Given the description of an element on the screen output the (x, y) to click on. 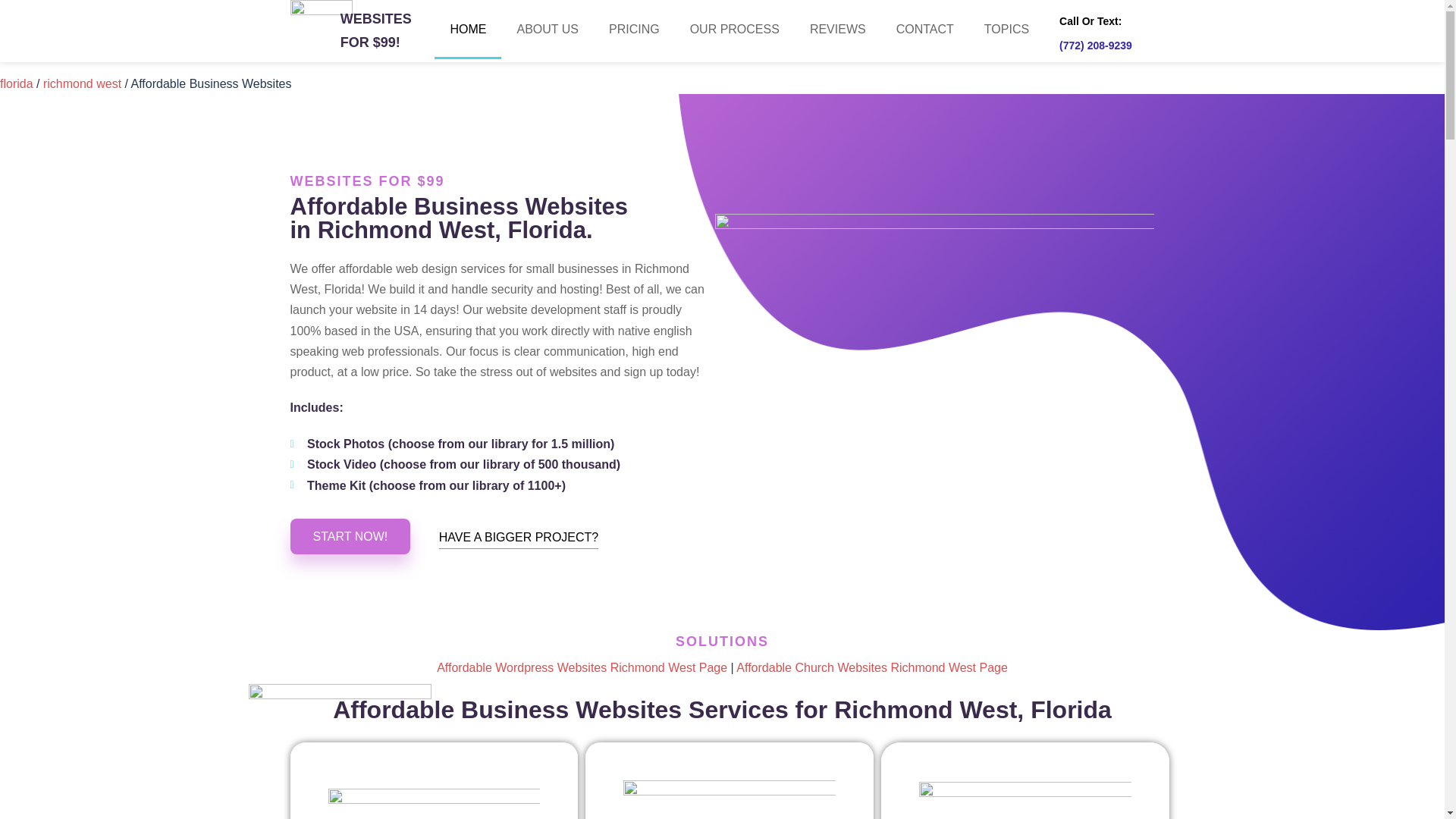
OUR PROCESS (734, 29)
START NOW! (349, 536)
TOPICS (1006, 29)
REVIEWS (837, 29)
ABOUT US (547, 29)
HOME (466, 29)
richmond west (81, 83)
florida (16, 83)
Call Or Text: (1090, 21)
HAVE A BIGGER PROJECT? (518, 537)
Affordable Church Websites Richmond West Page (871, 667)
Affordable Wordpress Websites Richmond West Page (581, 667)
PRICING (634, 29)
CONTACT (924, 29)
